Given the description of an element on the screen output the (x, y) to click on. 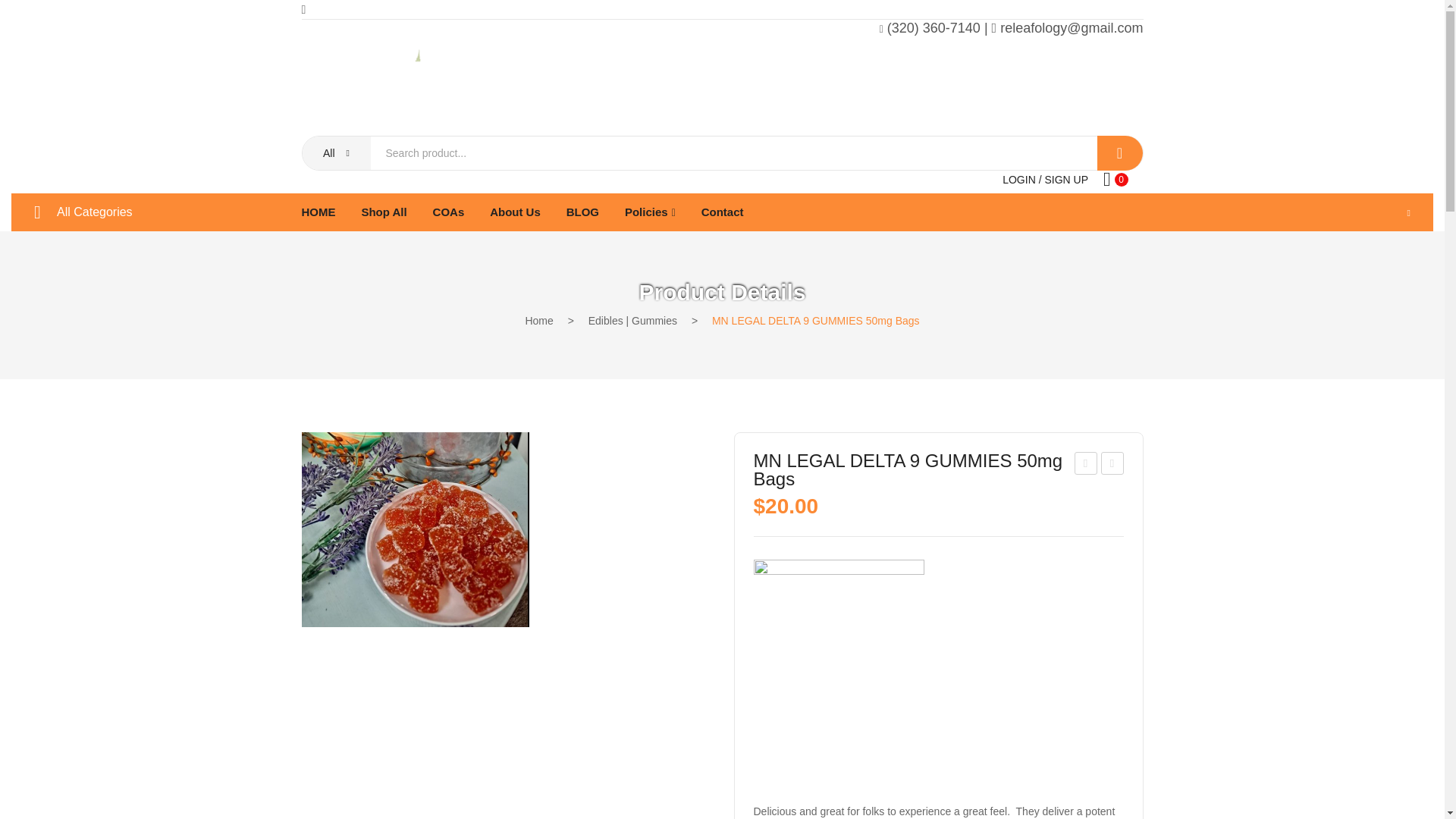
Policies (649, 211)
Contact (722, 211)
Login (1019, 179)
SIGN UP (1065, 179)
0 (1115, 179)
Releaf Ology CBD Store (415, 87)
HOME (318, 211)
LOGIN (1019, 179)
Shop All (383, 211)
